Given the description of an element on the screen output the (x, y) to click on. 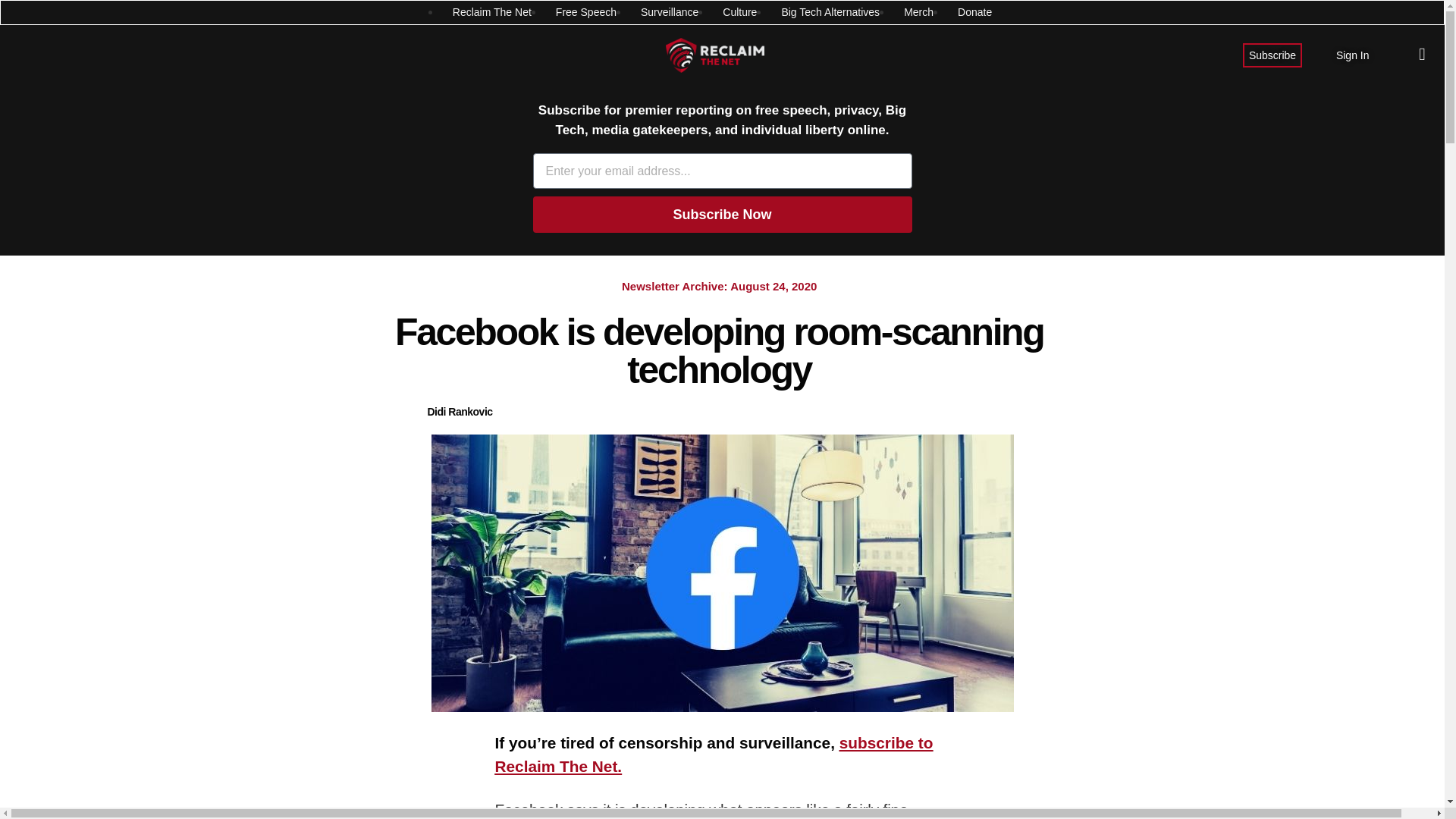
Big Tech Alternatives (829, 12)
Culture (739, 12)
Merch (918, 12)
Subscribe (1272, 55)
Free Speech (585, 12)
Reclaim The Net (491, 12)
Donate (974, 12)
Surveillance (669, 12)
Subscribe Now (721, 214)
Didi Rankovic (460, 412)
subscribe to Reclaim The Net. (714, 753)
Sign In (1353, 55)
